Given the description of an element on the screen output the (x, y) to click on. 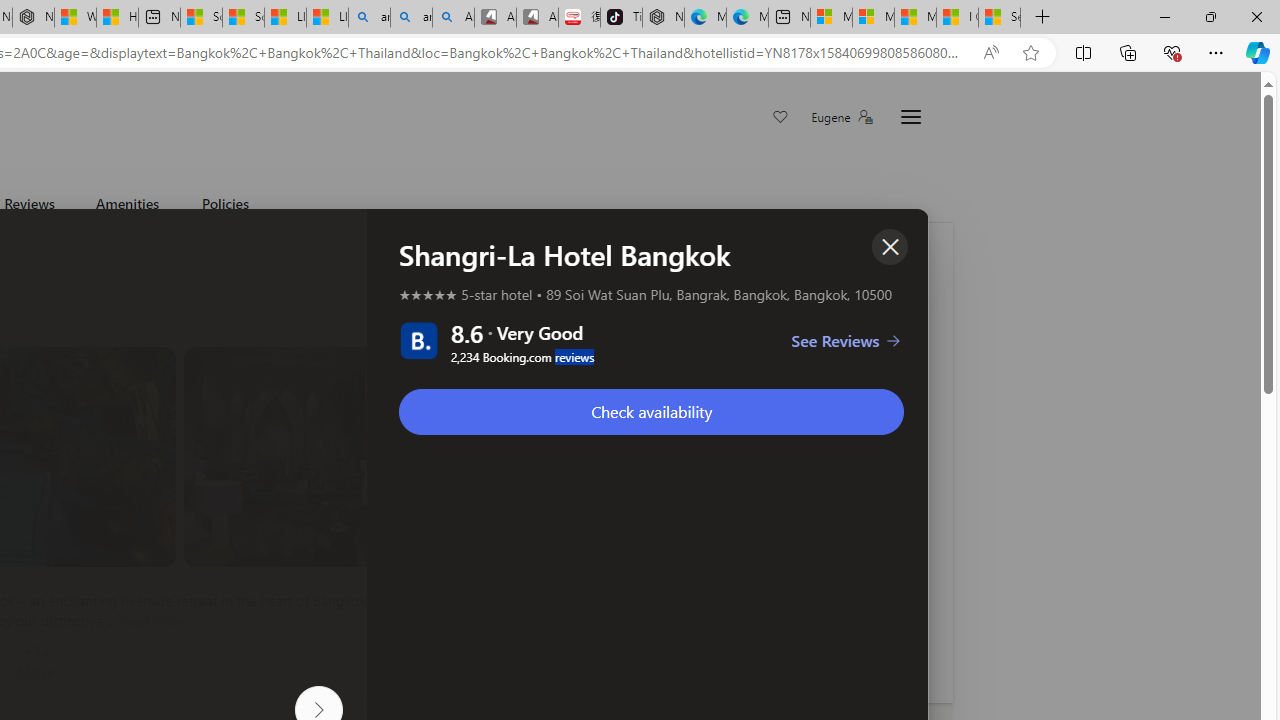
Microsoft account | Privacy (872, 17)
